Given the description of an element on the screen output the (x, y) to click on. 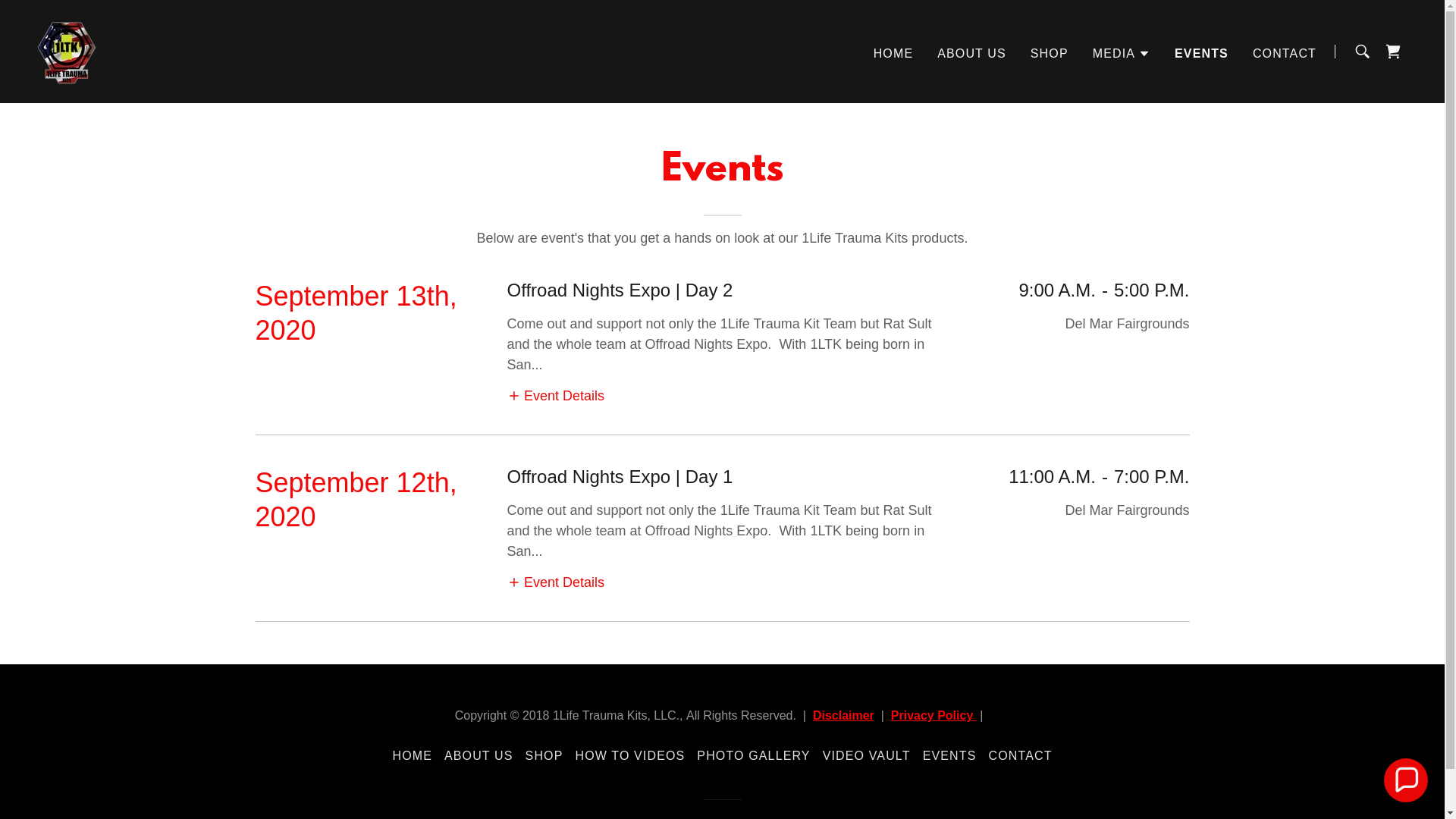
HOME Element type: text (411, 755)
EVENTS Element type: text (949, 755)
CONTACT Element type: text (1284, 52)
VIDEO VAULT Element type: text (866, 755)
Disclaimer Element type: text (843, 715)
MEDIA Element type: text (1121, 52)
PHOTO GALLERY Element type: text (752, 755)
ABOUT US Element type: text (971, 52)
1Life Trauma Kits Element type: hover (66, 50)
SHOP Element type: text (1049, 52)
SHOP Element type: text (544, 755)
HOW TO VIDEOS Element type: text (629, 755)
ABOUT US Element type: text (478, 755)
CONTACT Element type: text (1019, 755)
HOME Element type: text (893, 52)
Privacy Policy Element type: text (933, 715)
EVENTS Element type: text (1201, 52)
